Given the description of an element on the screen output the (x, y) to click on. 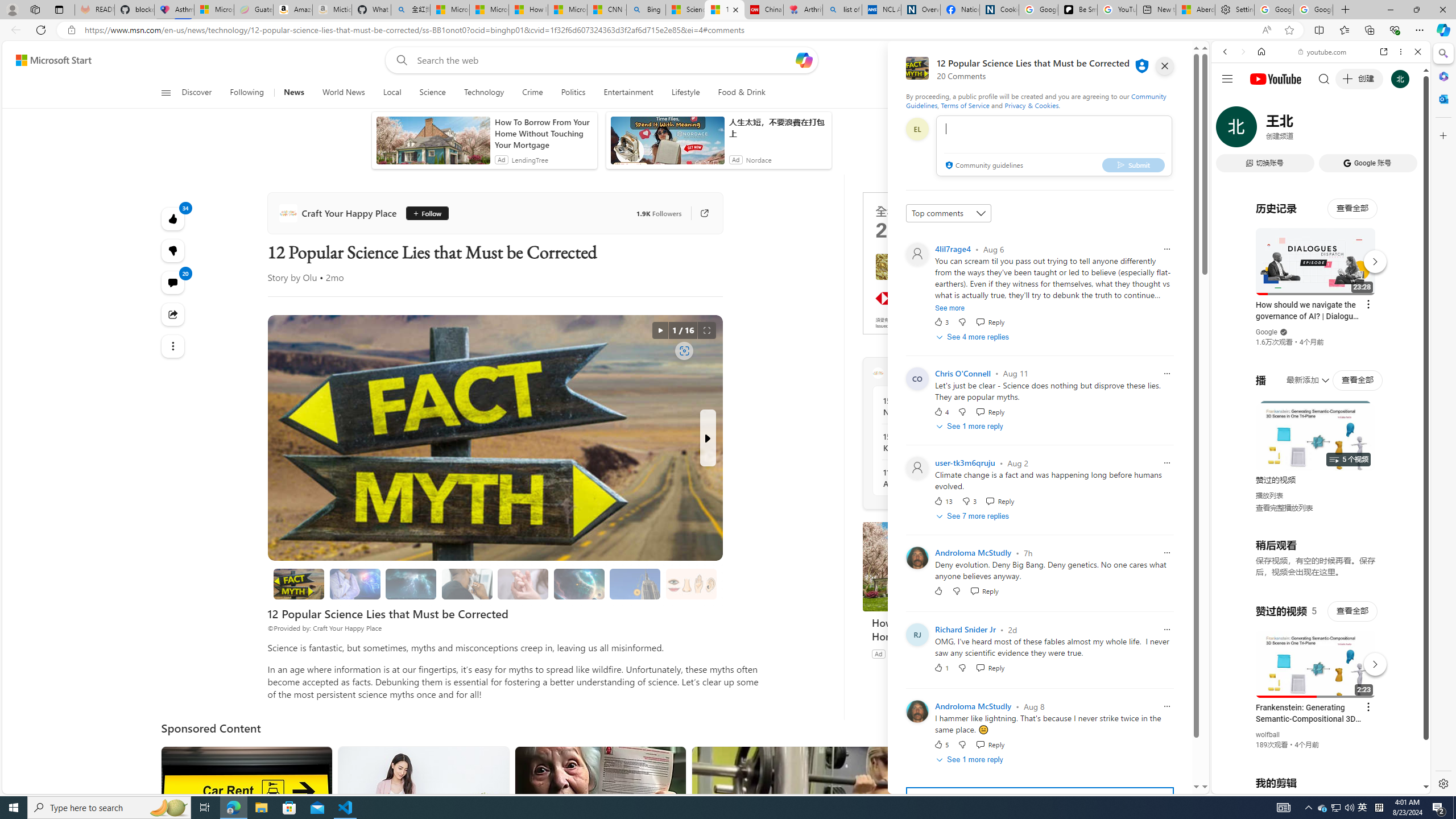
12 Popular Science Lies that Must be Corrected (724, 9)
Full screen (706, 330)
34 (172, 250)
See more comments (1039, 800)
Richard Snider Jr (964, 629)
Search Filter, Search Tools (1350, 129)
